Given the description of an element on the screen output the (x, y) to click on. 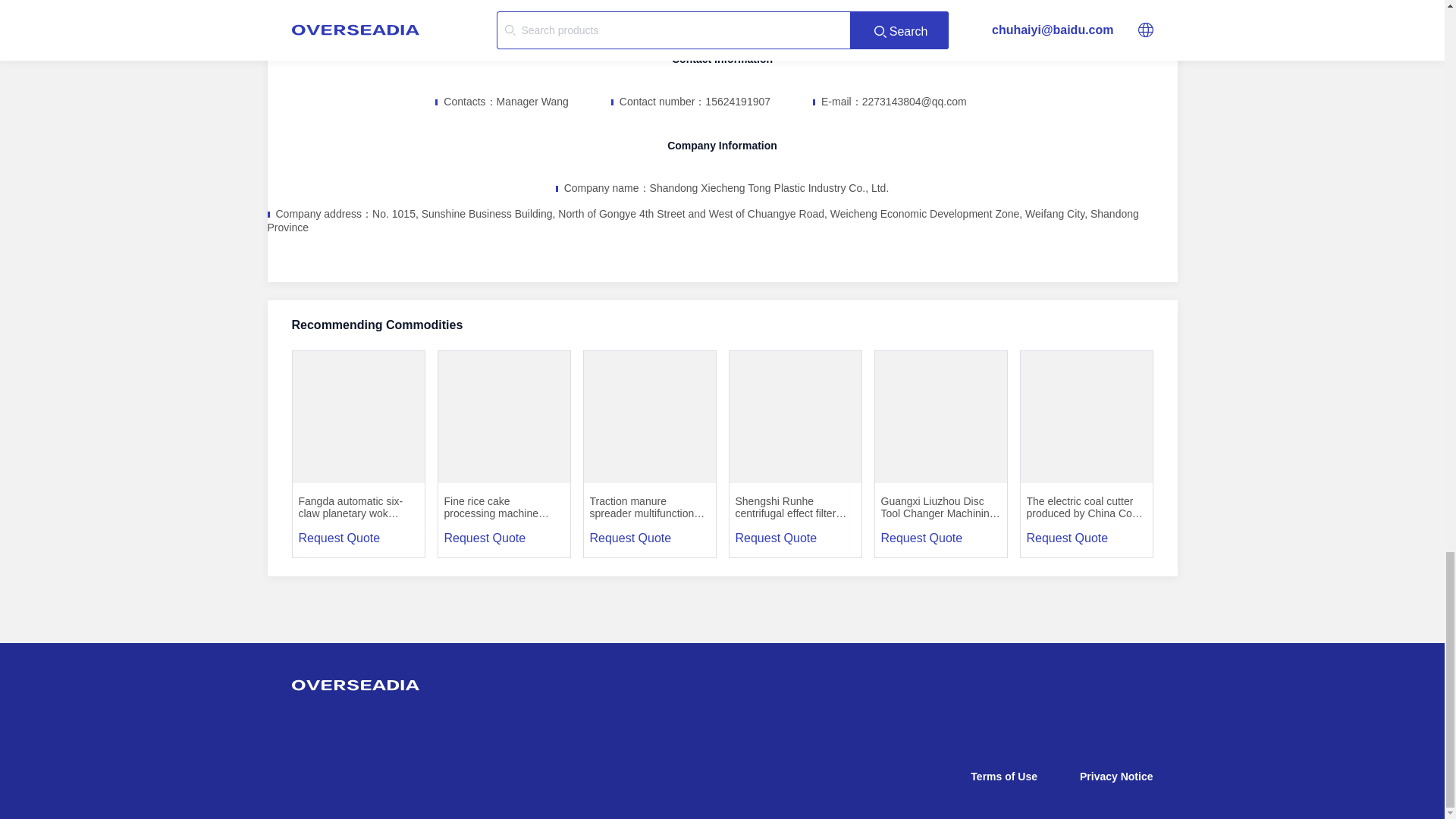
Privacy Notice (1116, 776)
Terms of Use (1003, 776)
